Given the description of an element on the screen output the (x, y) to click on. 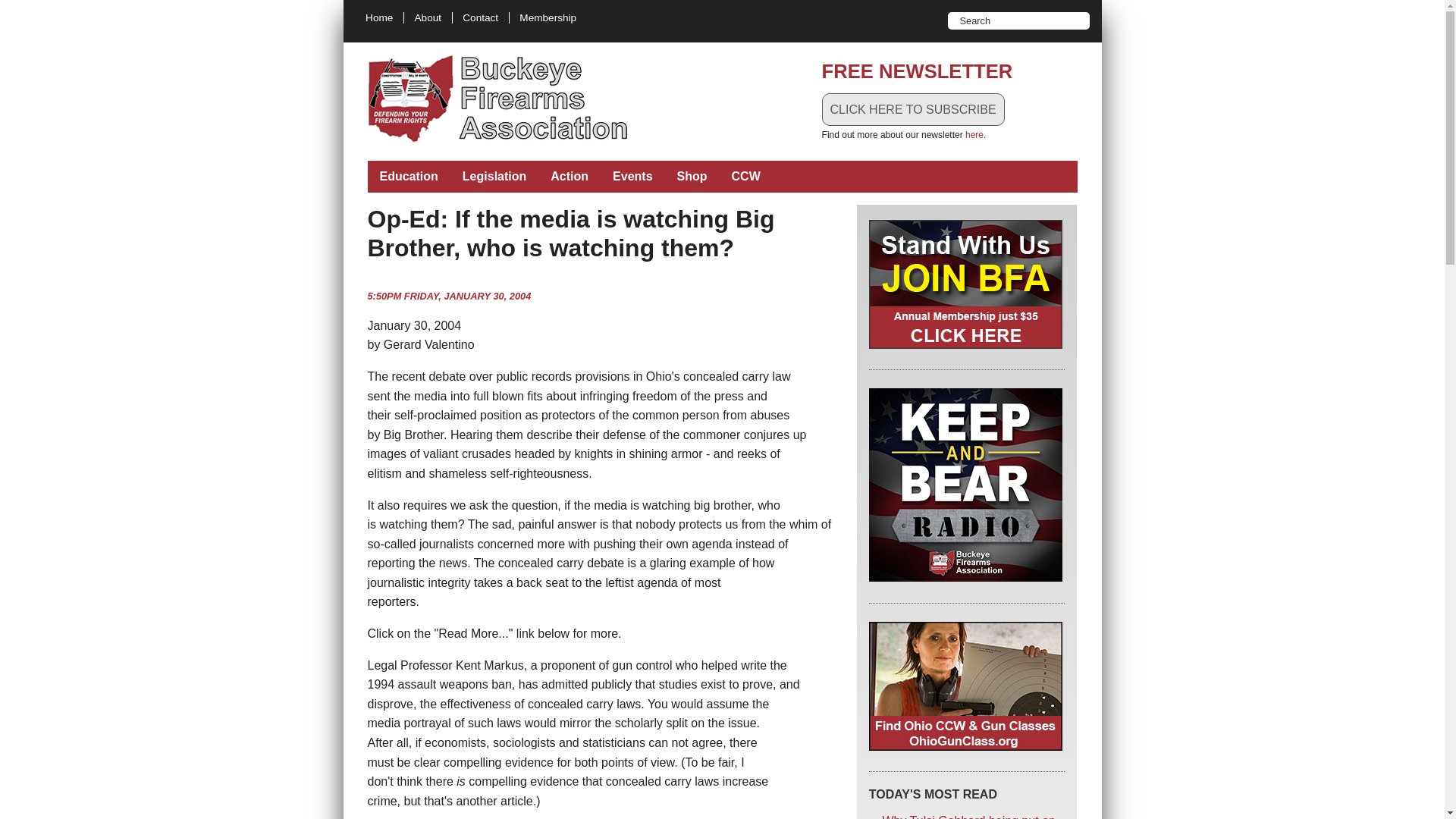
Events (631, 176)
Contact (480, 17)
LIKE BUCKEYE FIREARMS ON FACEBOOK (824, 18)
Search (1071, 20)
CLICK HERE TO SUBSCRIBE (913, 109)
CCW (746, 176)
Shop (692, 176)
Search (1008, 20)
Action (568, 176)
RSS (861, 18)
